Given the description of an element on the screen output the (x, y) to click on. 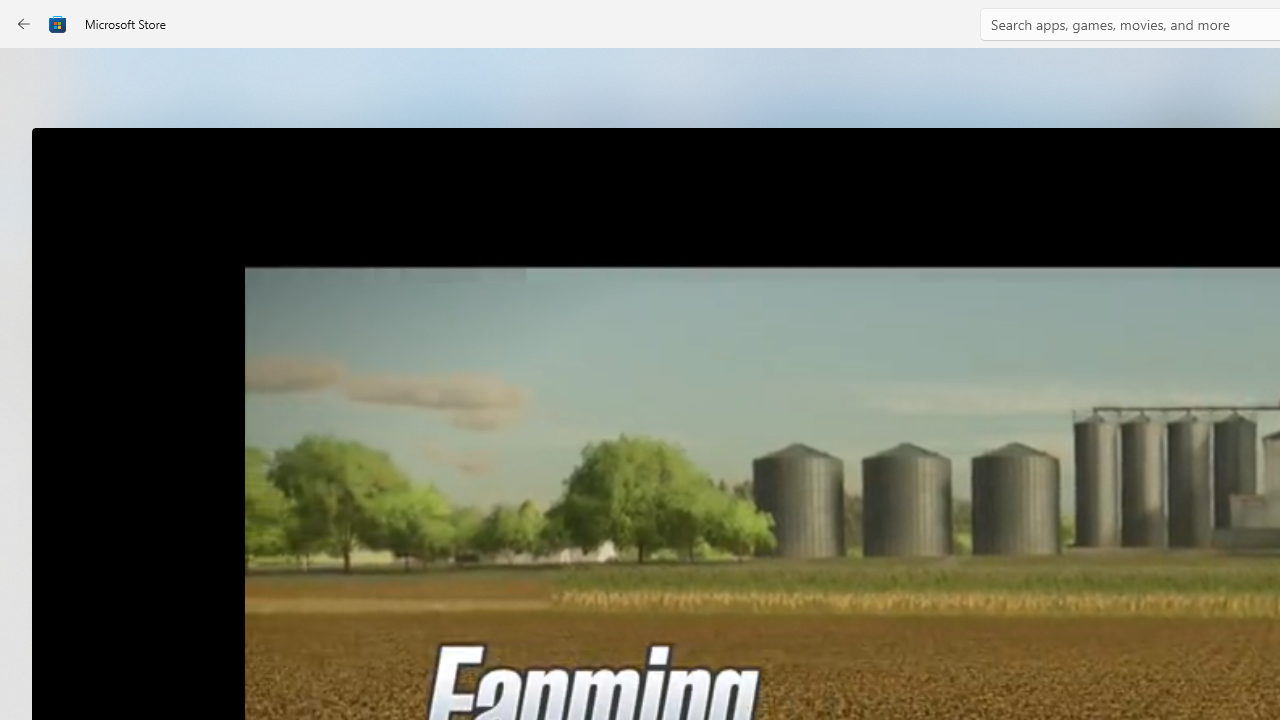
Class: Image (58, 24)
Entertainment (35, 327)
Gaming (35, 203)
AI Hub (35, 390)
Home (35, 79)
Back (24, 24)
Arcade (35, 265)
